Given the description of an element on the screen output the (x, y) to click on. 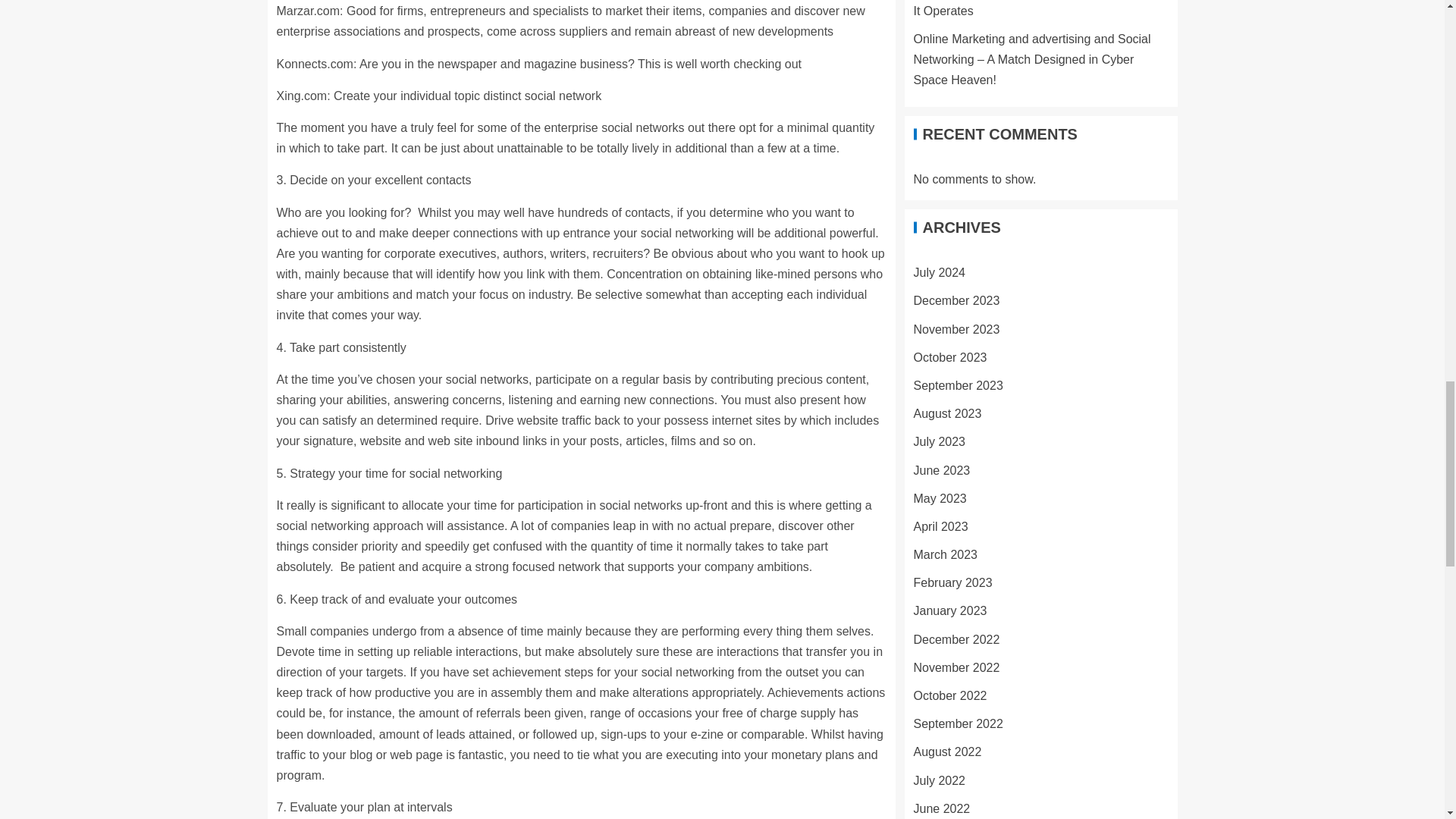
Seedbacklink (976, 417)
